Given the description of an element on the screen output the (x, y) to click on. 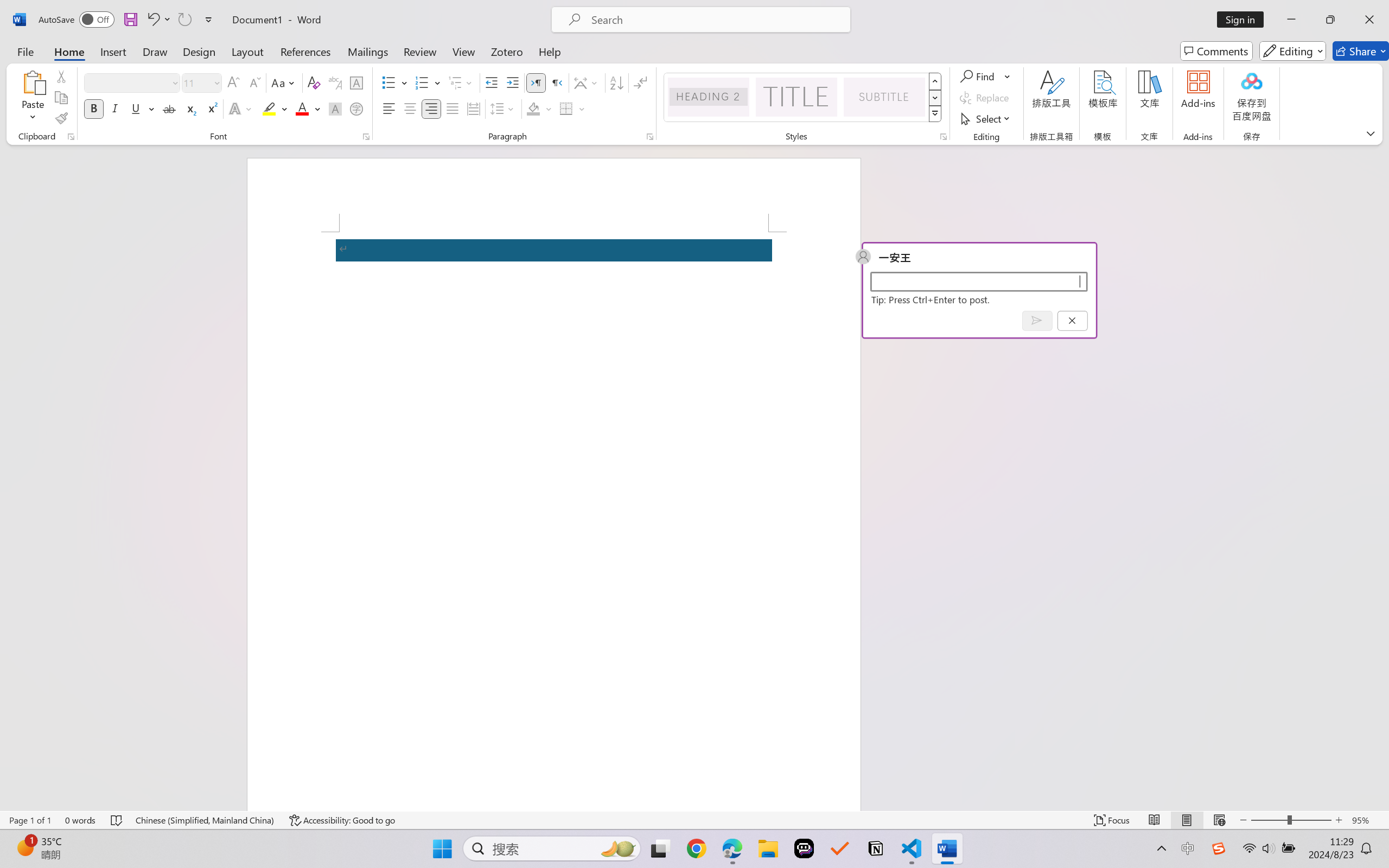
Post comment (Ctrl + Enter) (1036, 320)
Editing (1292, 50)
Subtitle (883, 96)
